Given the description of an element on the screen output the (x, y) to click on. 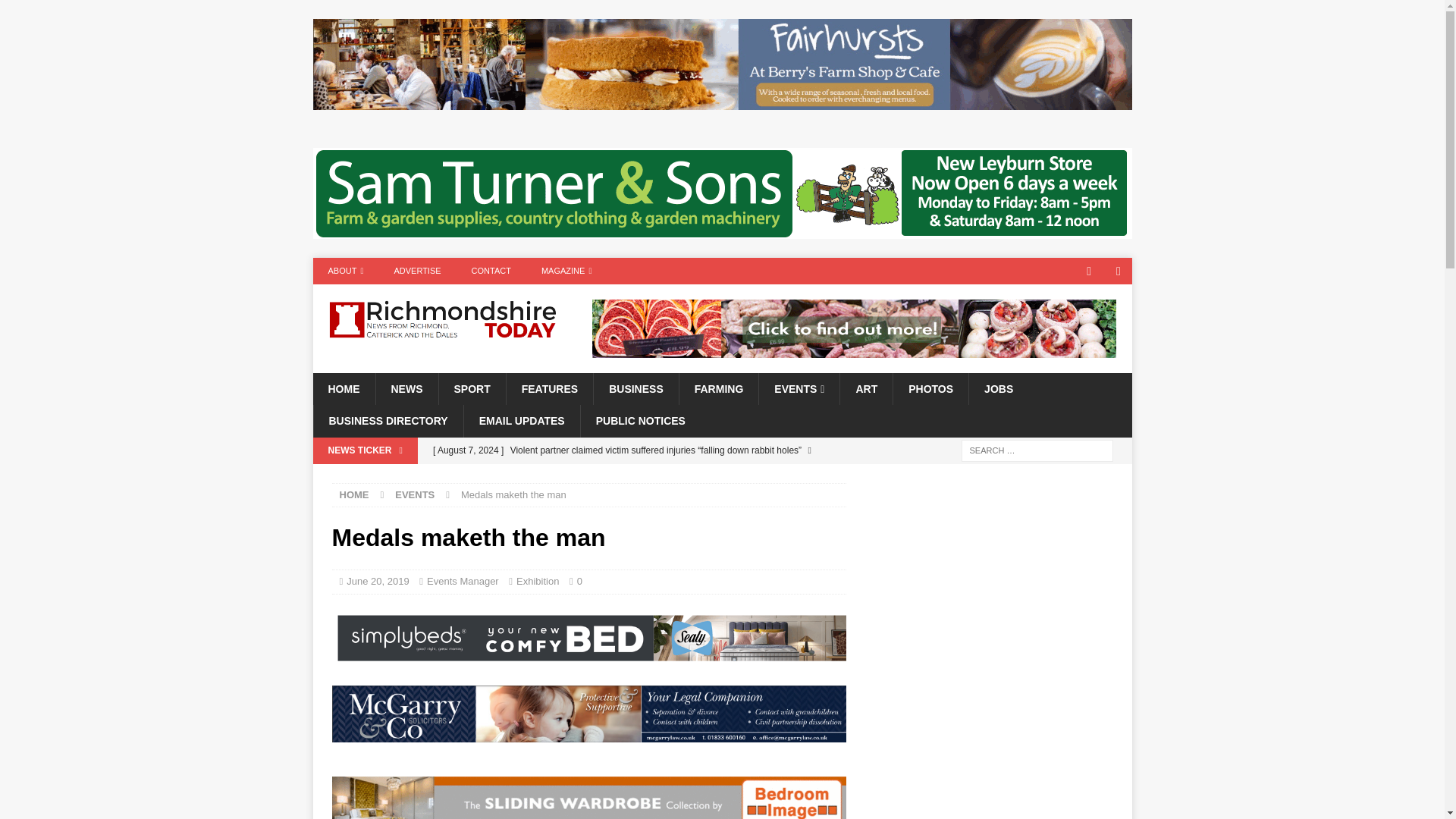
HOME (354, 494)
ADVERTISE (416, 270)
BUSINESS DIRECTORY (388, 420)
FARMING (718, 388)
ART (866, 388)
ABOUT (345, 270)
EMAIL UPDATES (521, 420)
NEWS (406, 388)
MAGAZINE (566, 270)
BUSINESS (635, 388)
